Given the description of an element on the screen output the (x, y) to click on. 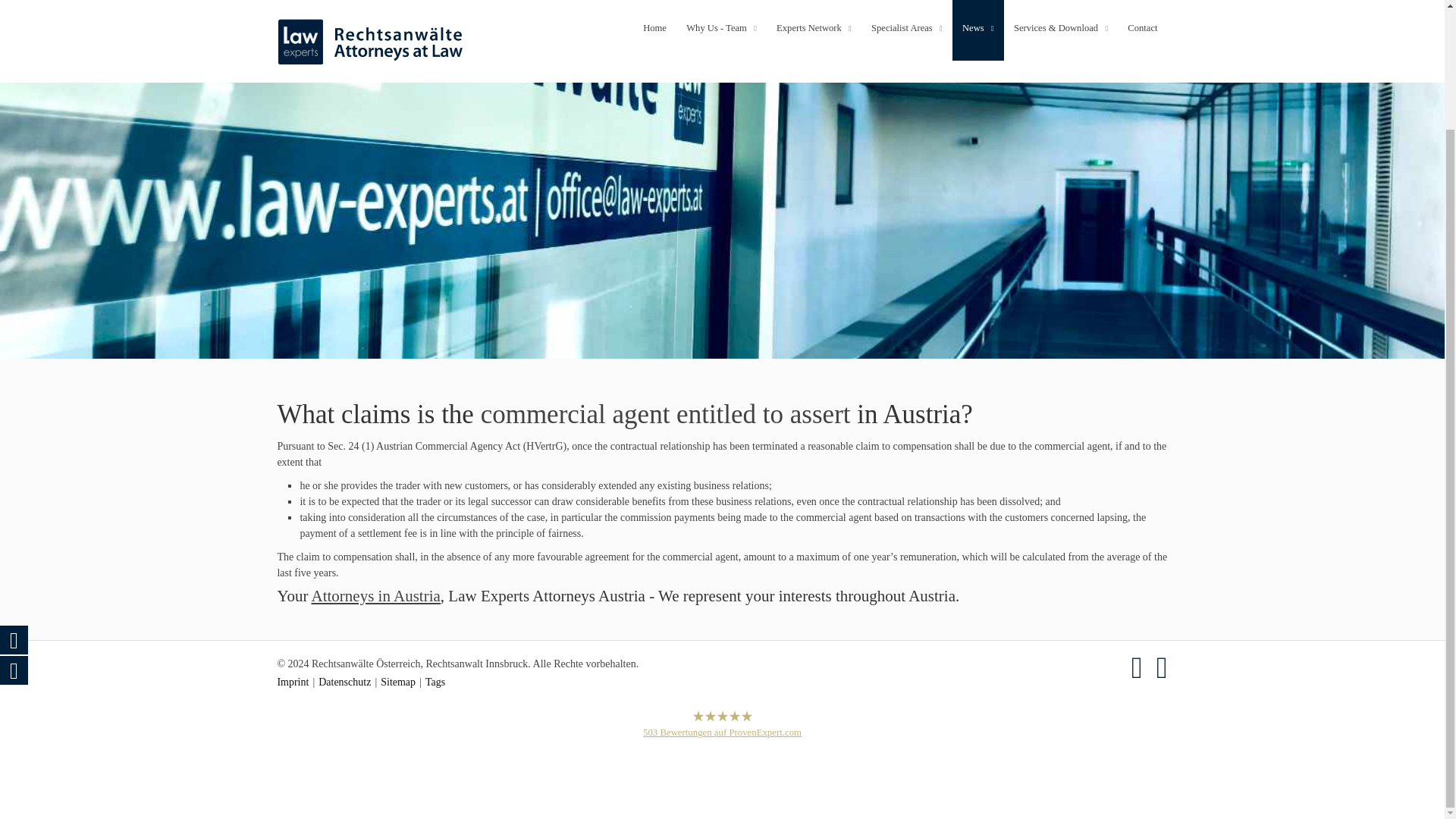
Sitemap (397, 681)
Imprint (292, 681)
Datenschutz (344, 681)
Attorneys in Austria (376, 596)
Tags (435, 681)
commercial agent entitled to assert (665, 414)
